Given the description of an element on the screen output the (x, y) to click on. 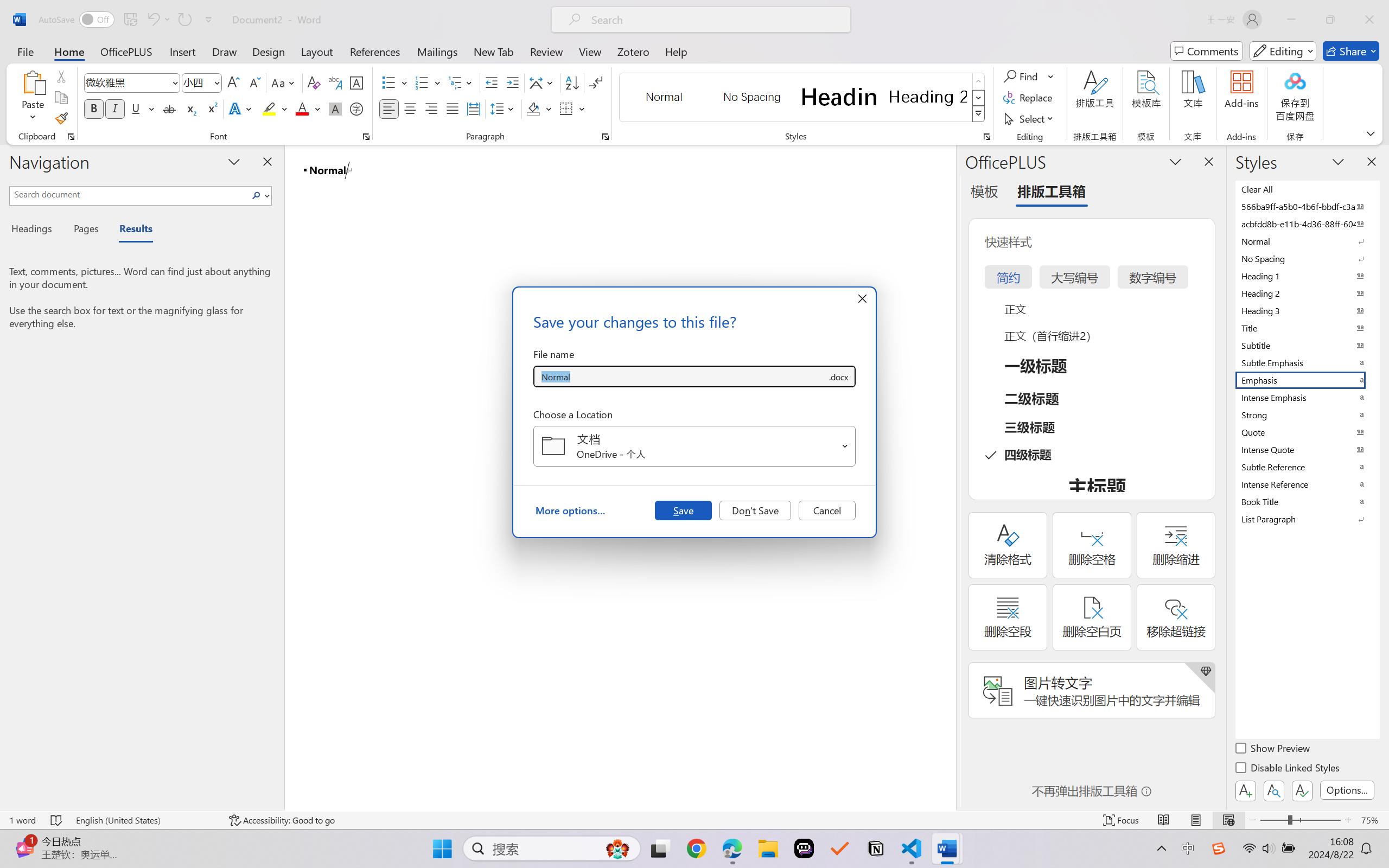
Increase Indent (512, 82)
Superscript (210, 108)
New Tab (493, 51)
Paste (33, 97)
Quick Access Toolbar (127, 19)
Microsoft search (715, 19)
Choose a Location (694, 446)
List Paragraph (1306, 518)
Paragraph... (605, 136)
Decrease Indent (491, 82)
